Given the description of an element on the screen output the (x, y) to click on. 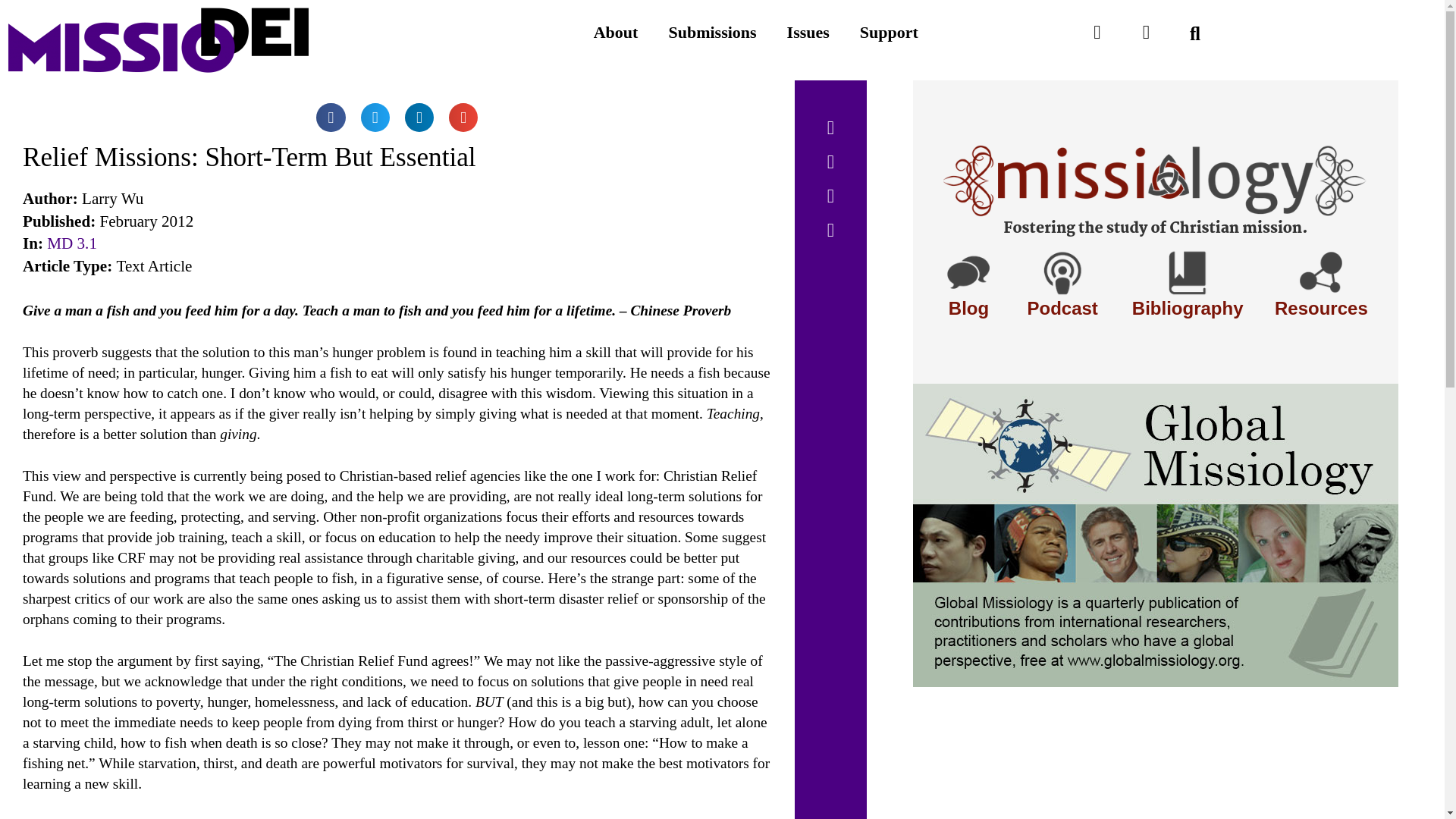
MD 3.1 (71, 243)
Issues (807, 32)
About (615, 32)
Masthead-Indigo-02 (157, 39)
Support (888, 32)
Submissions (711, 32)
